Given the description of an element on the screen output the (x, y) to click on. 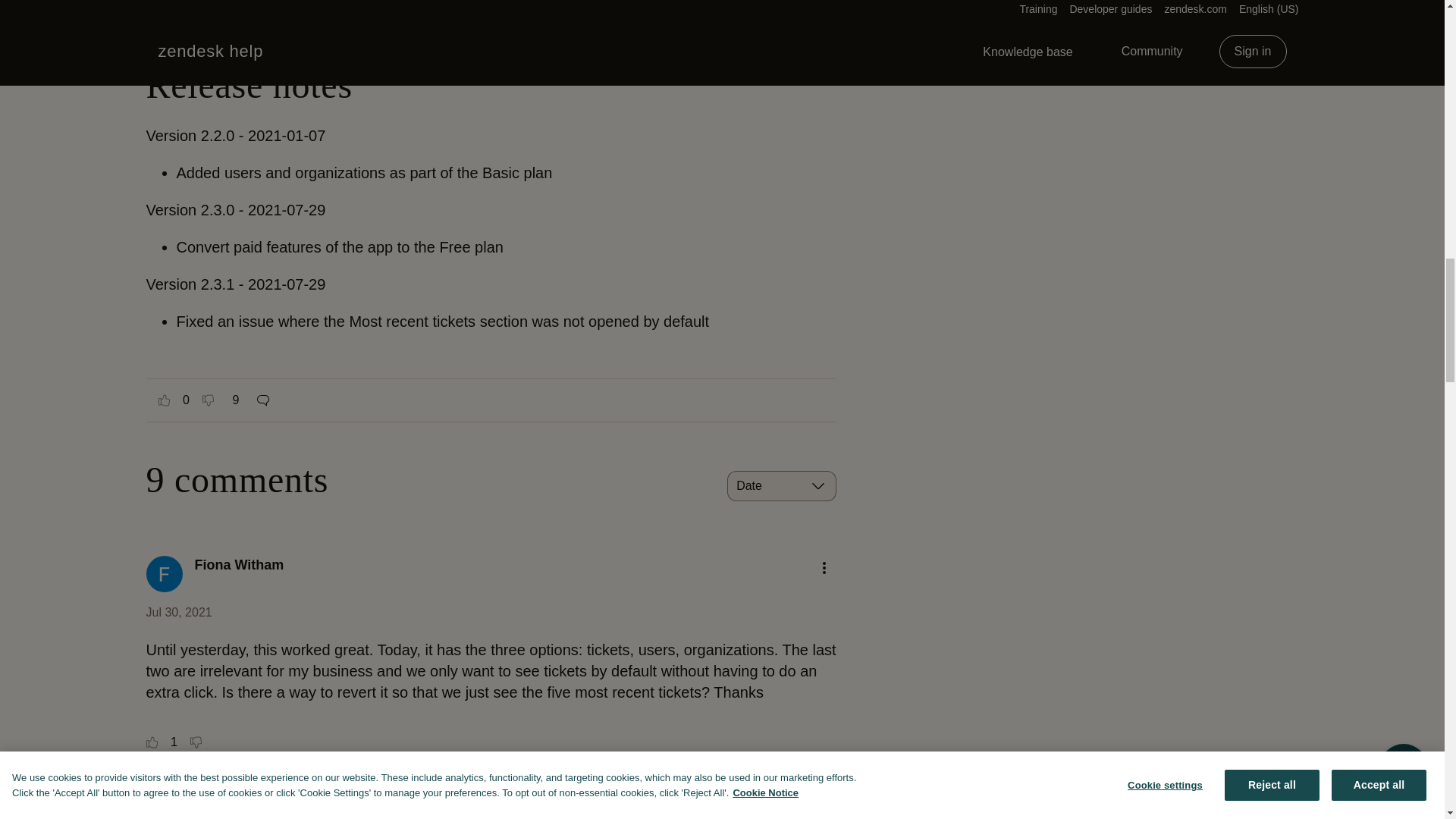
Jul 30, 2021 (178, 612)
